Given the description of an element on the screen output the (x, y) to click on. 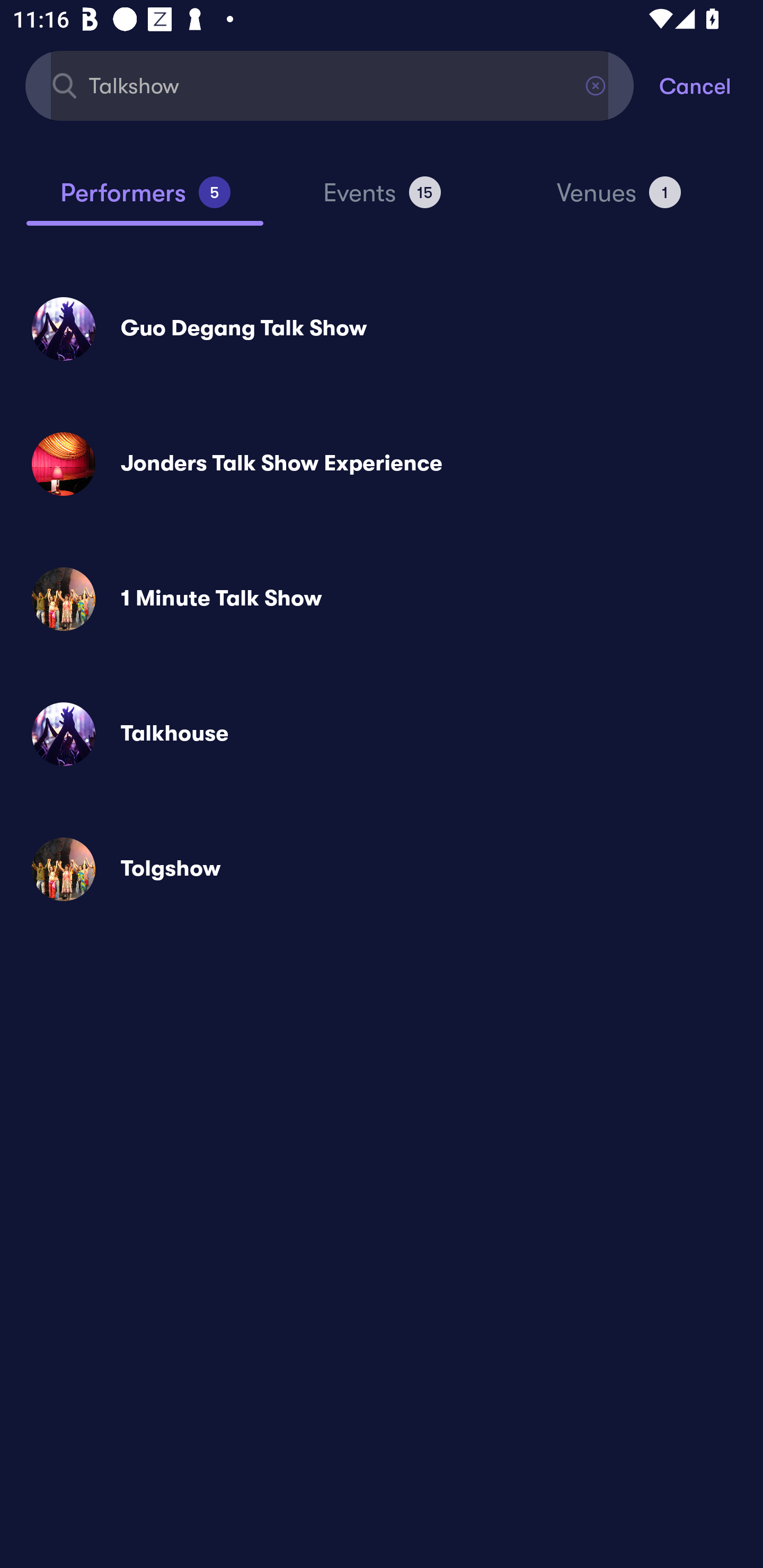
Talkshow Find (329, 85)
Talkshow Find (329, 85)
Cancel (711, 85)
Performers 5 (144, 200)
Events 15 (381, 200)
Venues 1 (618, 200)
Guo Degang Talk Show (381, 328)
Jonders Talk Show Experience (381, 464)
1 Minute Talk Show (381, 598)
Talkhouse (381, 734)
Tolgshow (381, 869)
